Given the description of an element on the screen output the (x, y) to click on. 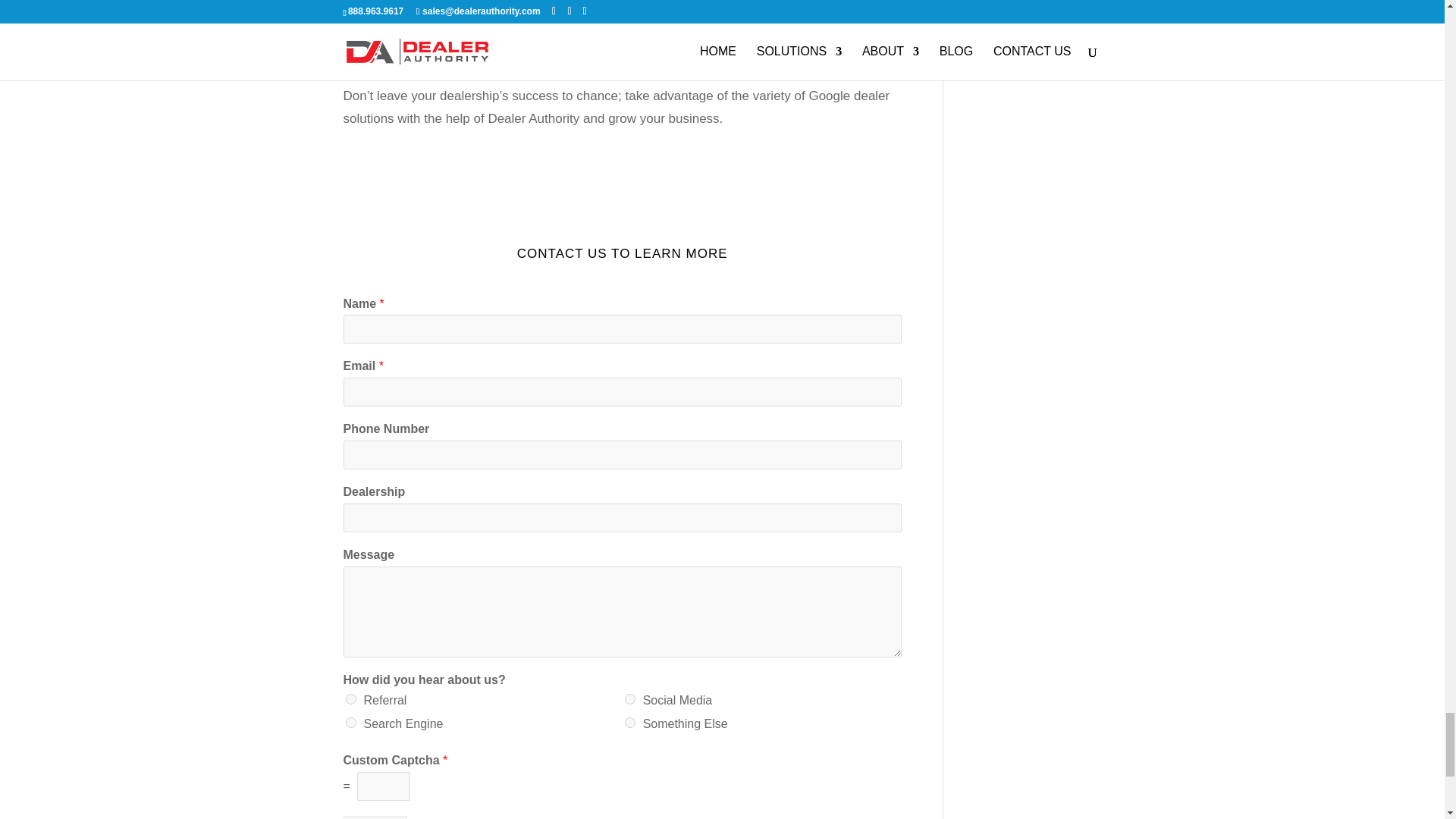
Social Media (629, 698)
Something Else (629, 722)
Search Engine (351, 722)
Referral (351, 698)
